Given the description of an element on the screen output the (x, y) to click on. 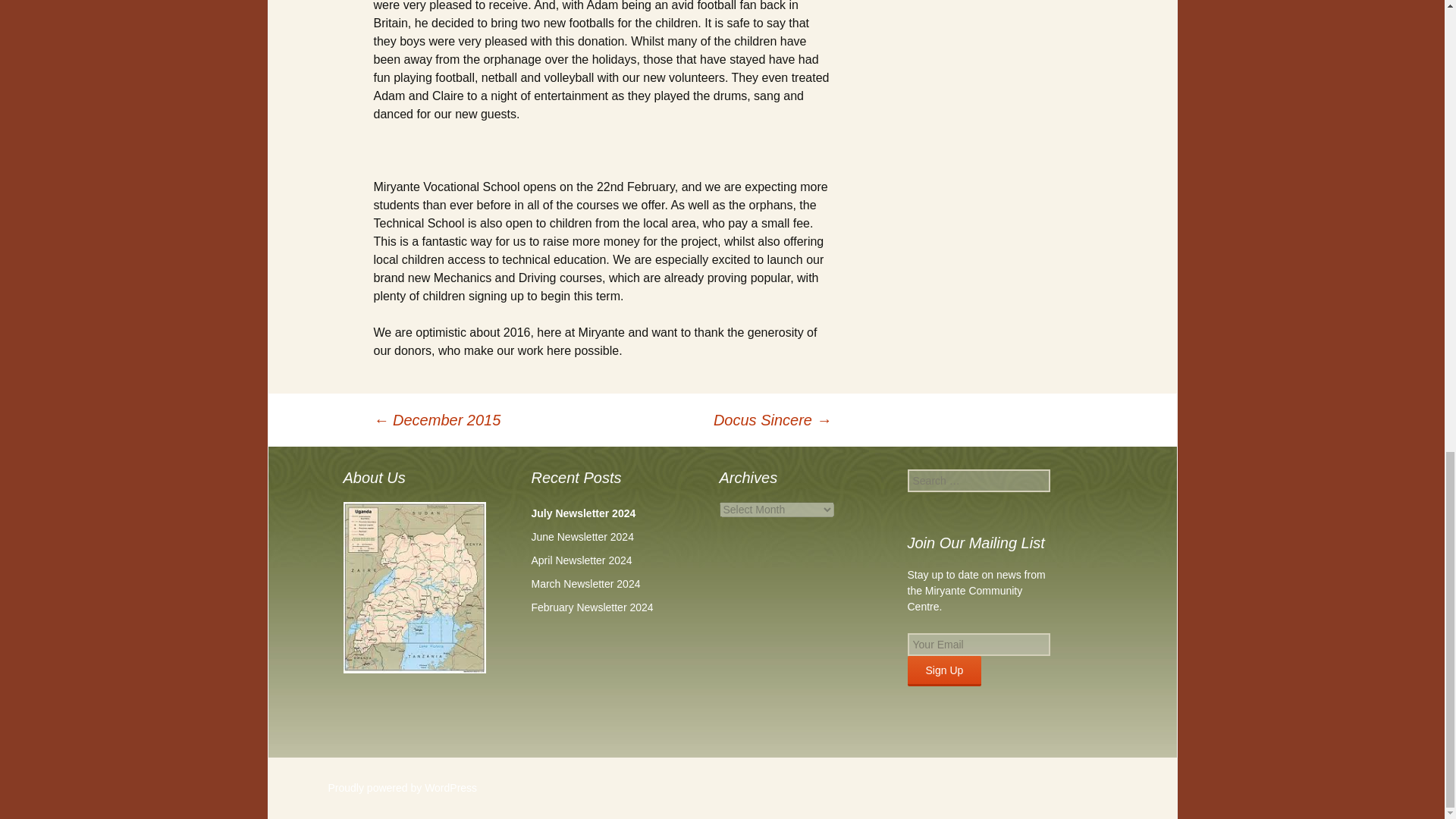
Sign Up (944, 671)
July Newsletter 2024 (582, 512)
June Newsletter 2024 (582, 536)
February Newsletter 2024 (591, 607)
Proudly powered by WordPress (402, 787)
April Newsletter 2024 (581, 560)
Sign Up (944, 671)
Semantic Personal Publishing Platform (402, 787)
March Newsletter 2024 (585, 583)
